Given the description of an element on the screen output the (x, y) to click on. 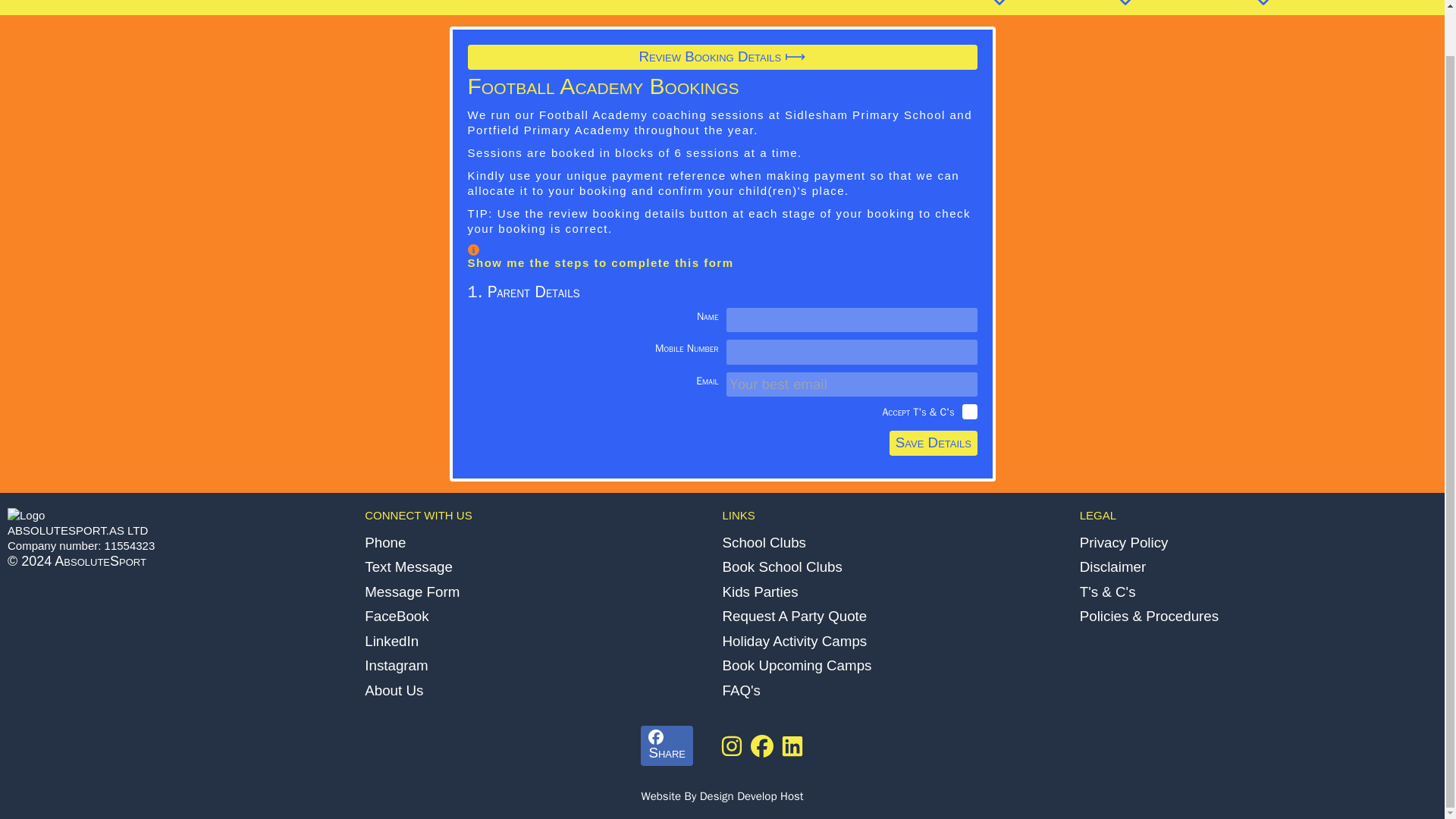
HOME (955, 4)
Save Details (932, 442)
FaceBook (543, 616)
Kids Parties (900, 592)
Message Form (543, 592)
CONTACT (1404, 2)
Phone (543, 543)
LinkedIn (543, 641)
Instagram (543, 665)
Book School Clubs (900, 567)
